Given the description of an element on the screen output the (x, y) to click on. 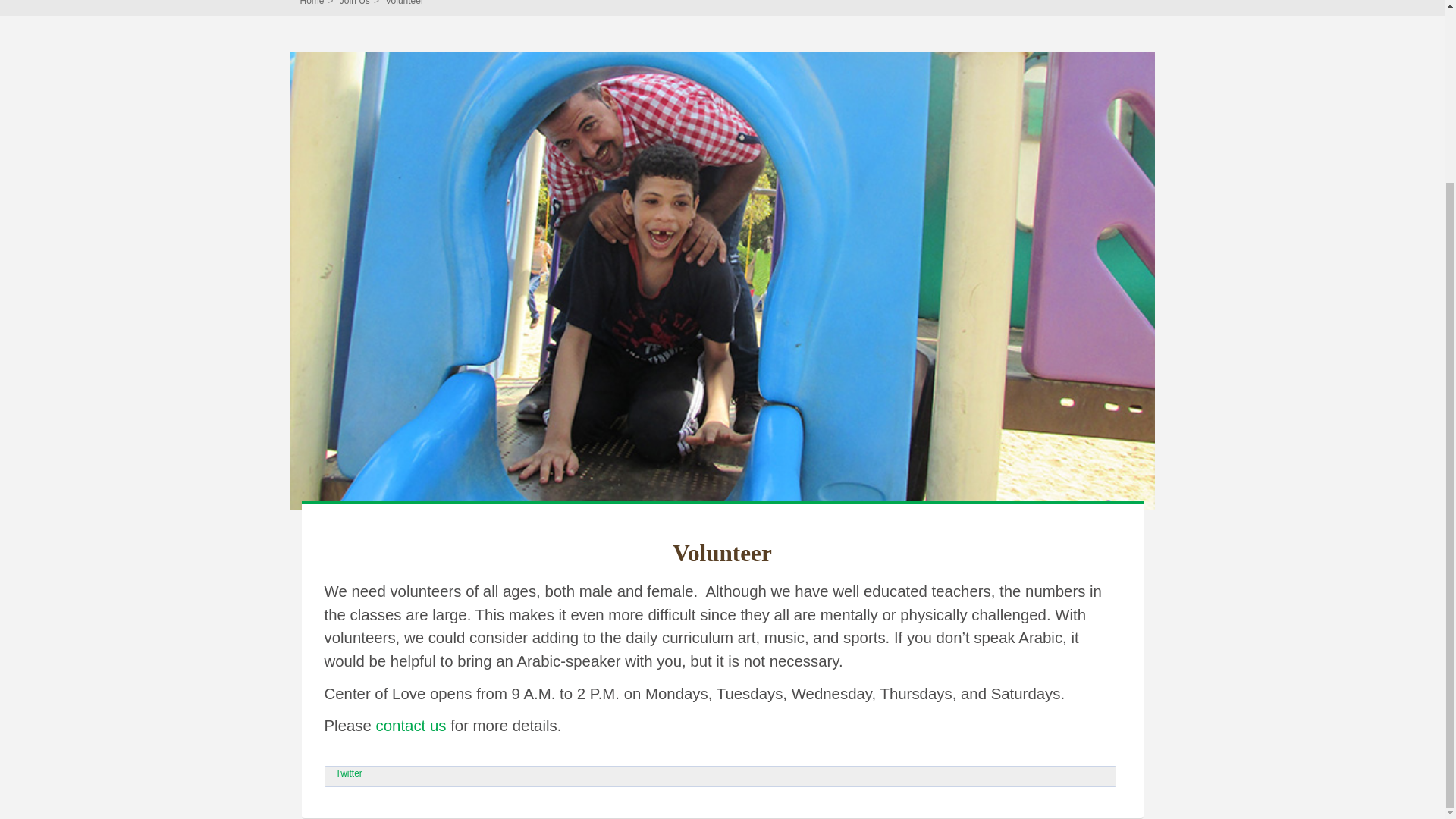
Home (311, 2)
Twitter (347, 773)
contact us (410, 725)
